Given the description of an element on the screen output the (x, y) to click on. 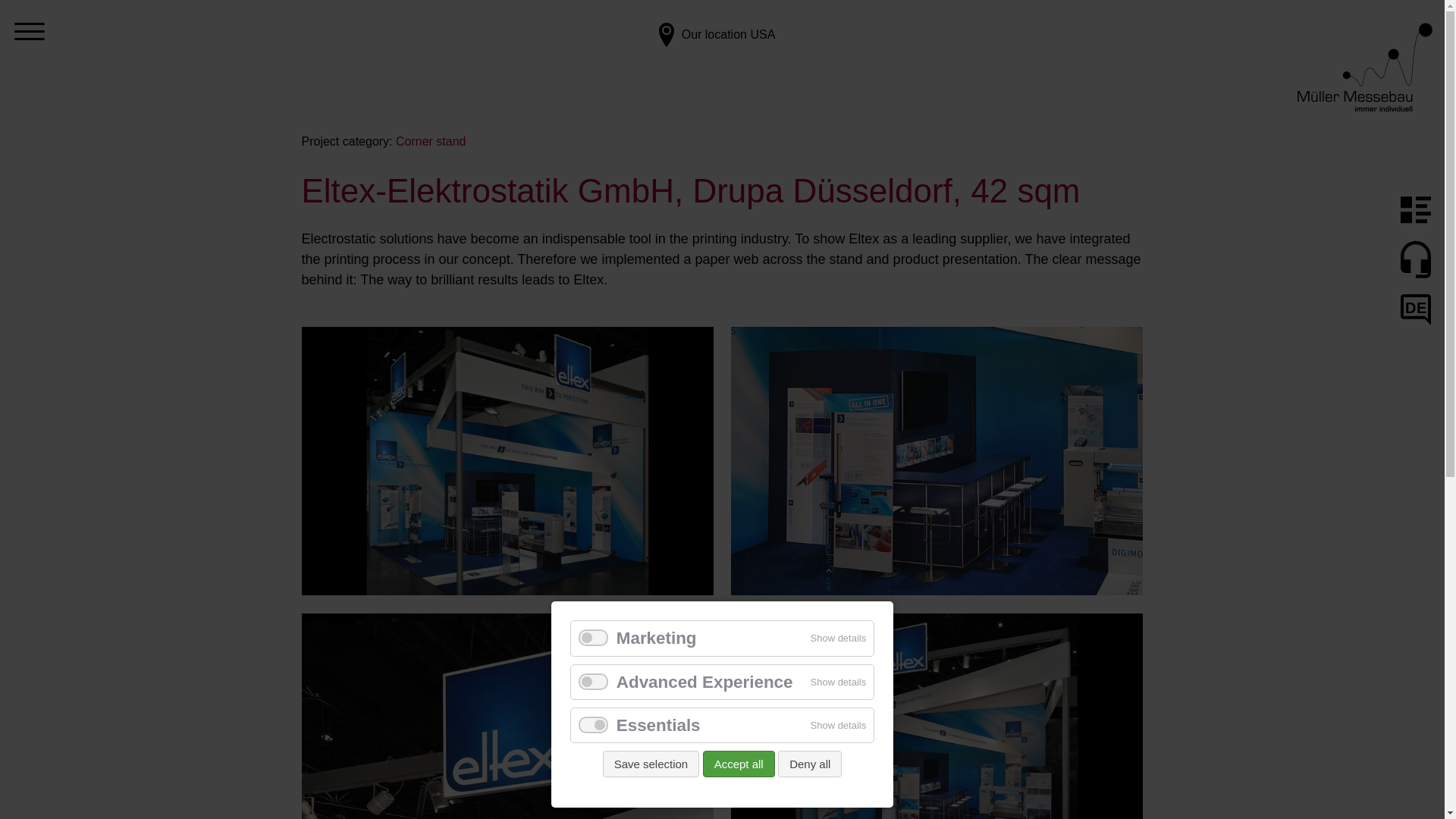
DE (1415, 309)
Our location USA (714, 69)
Corner stand (430, 141)
